Given the description of an element on the screen output the (x, y) to click on. 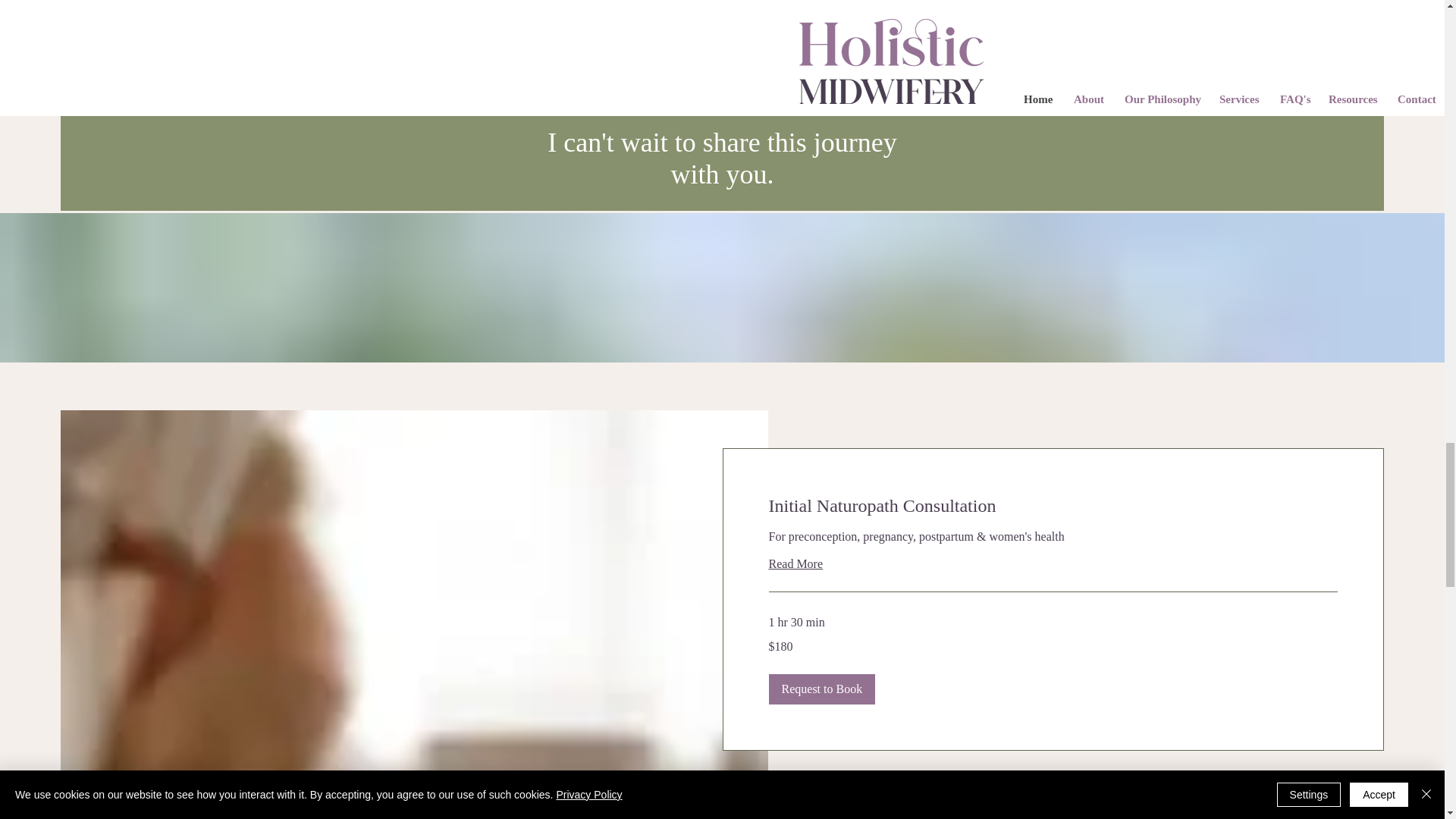
Initial Naturopath Consultation (1053, 506)
Read More (1053, 564)
Request to Book (822, 689)
